Given the description of an element on the screen output the (x, y) to click on. 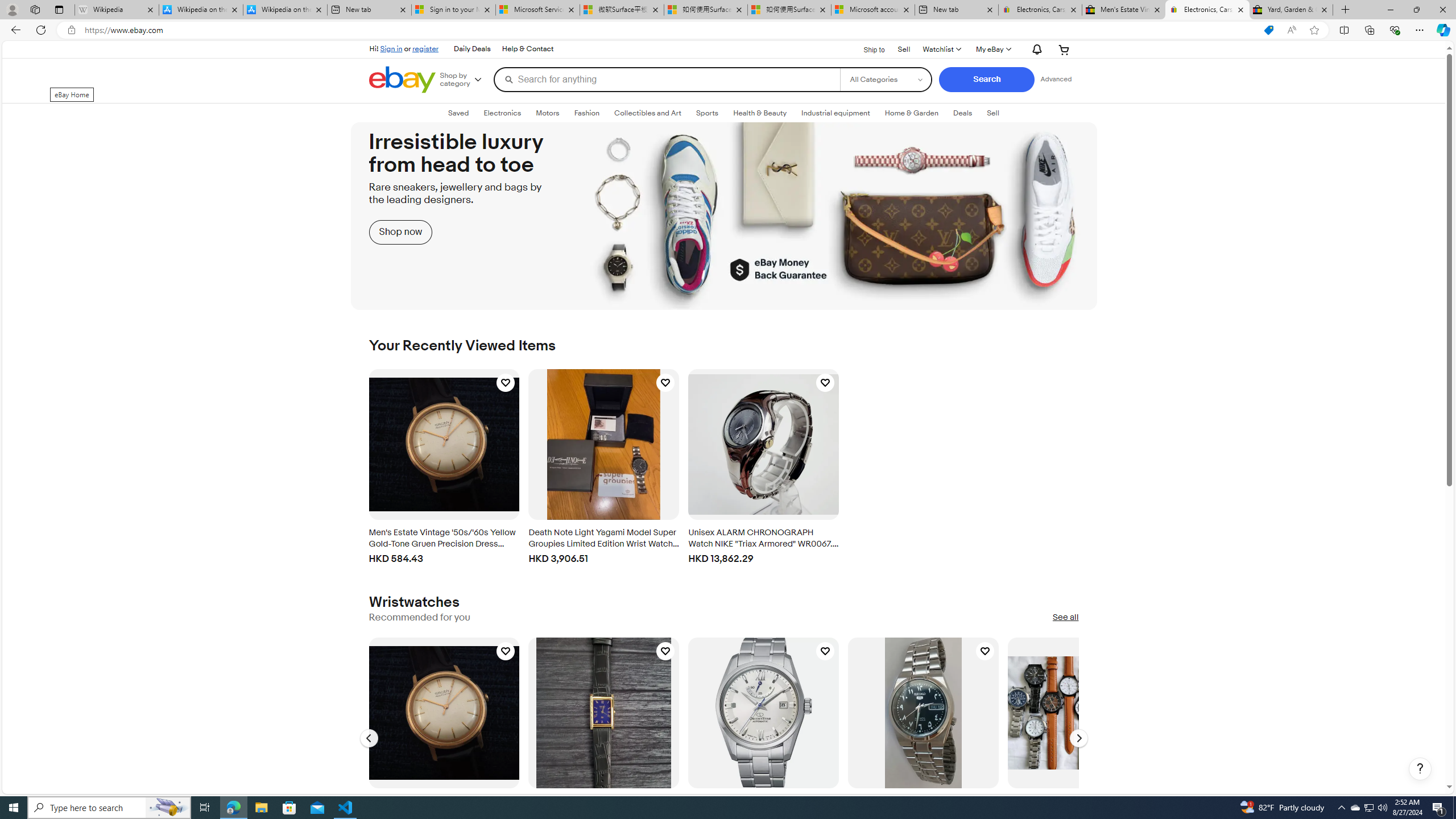
Notifications (1034, 49)
eBay Home (401, 79)
Select a category for search (885, 78)
Expand Cart (1064, 49)
Irresistible luxury from head to toe (723, 215)
Wikipedia - Sleeping (116, 9)
This site has coupons! Shopping in Microsoft Edge (1268, 29)
Deals (962, 112)
Deals (962, 112)
My eBayExpand My eBay (992, 49)
Go to the previous slide, Wristwatches - Carousel (368, 737)
